Given the description of an element on the screen output the (x, y) to click on. 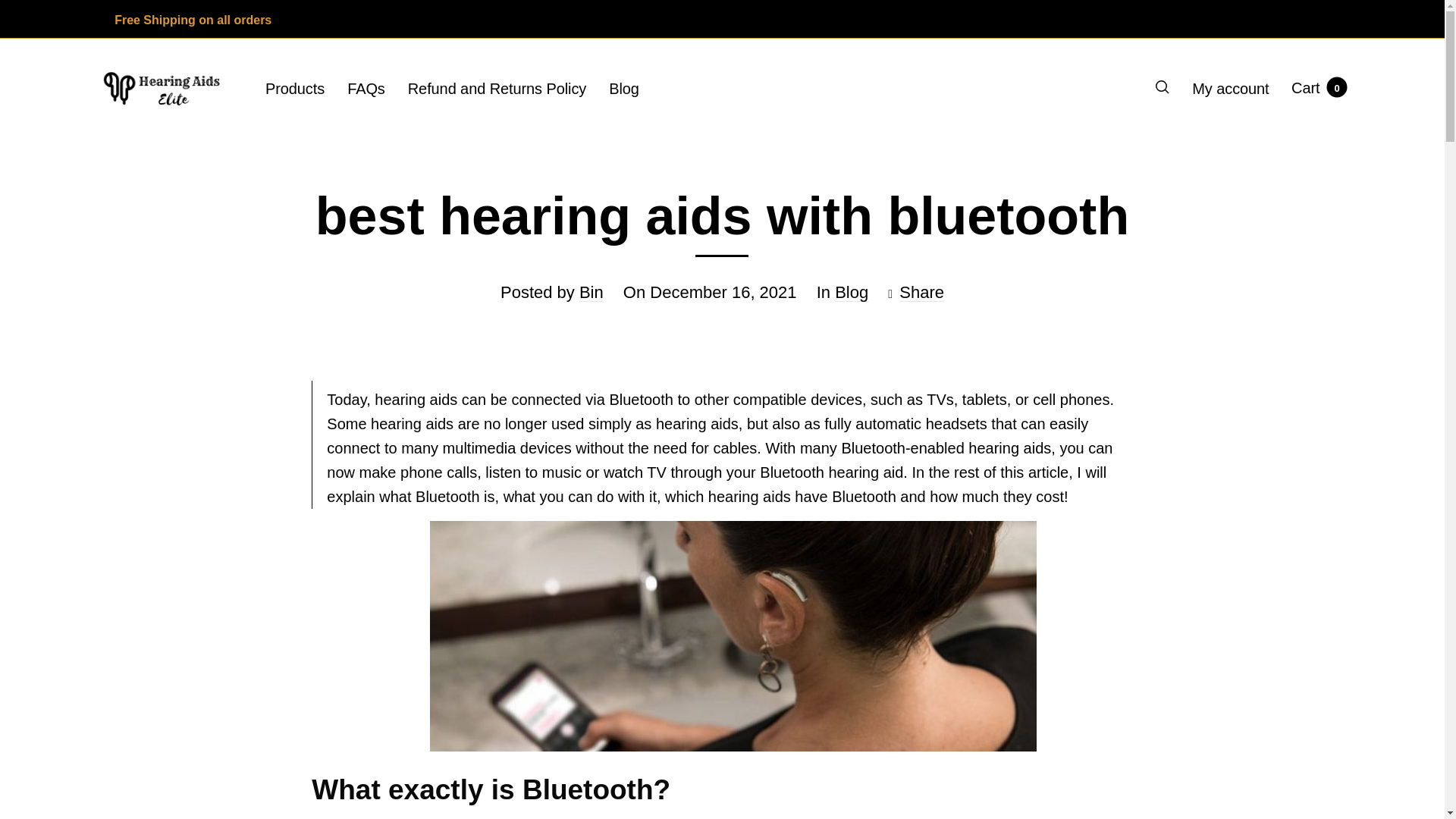
Blog (850, 292)
Bin (591, 292)
My account (1230, 87)
Products (294, 87)
Share (921, 292)
Refund and Returns Policy (1318, 87)
Blog (496, 87)
FAQs (623, 87)
